Given the description of an element on the screen output the (x, y) to click on. 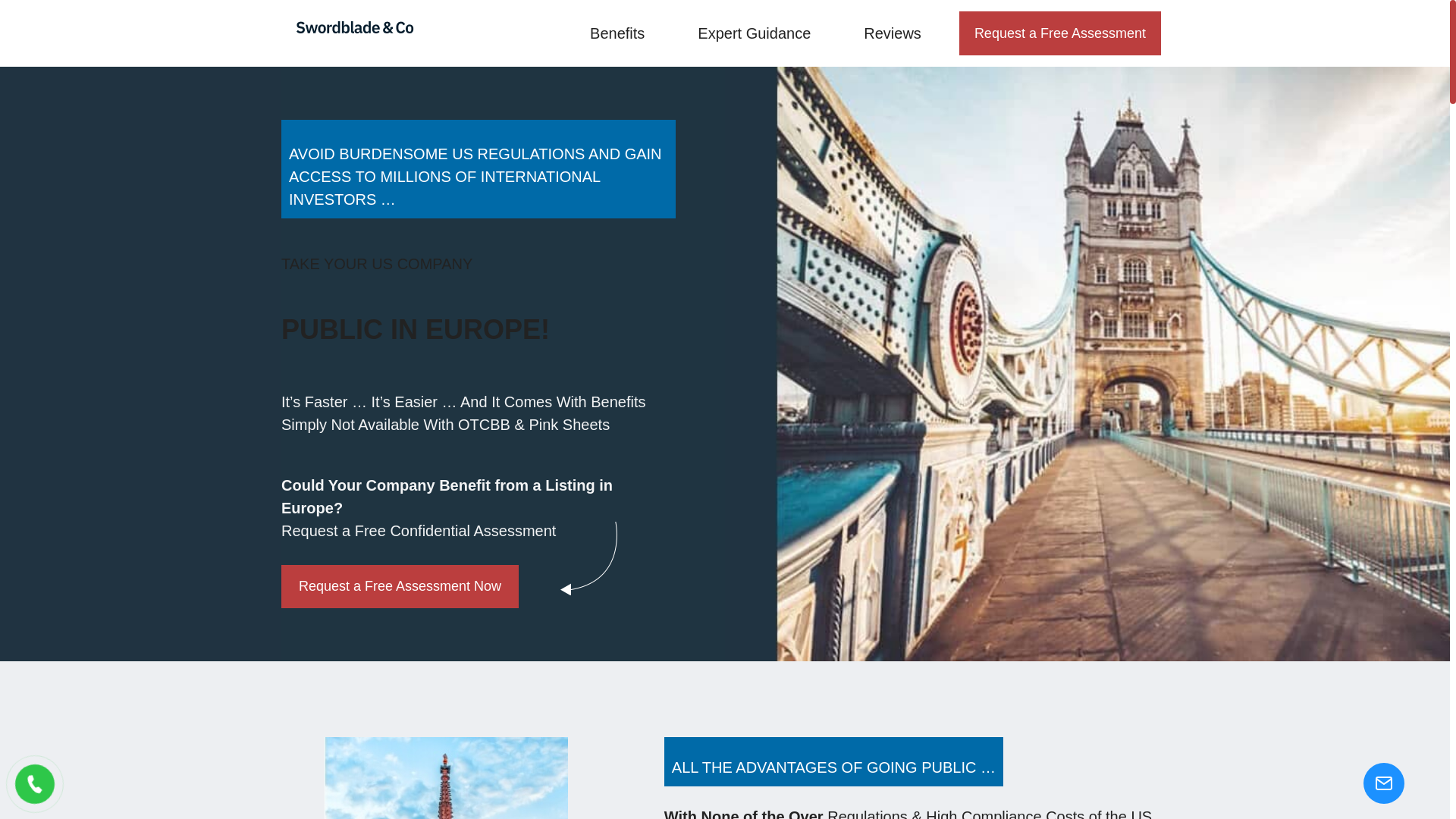
Created with Fabric.js 1.7.22 (34, 783)
